Given the description of an element on the screen output the (x, y) to click on. 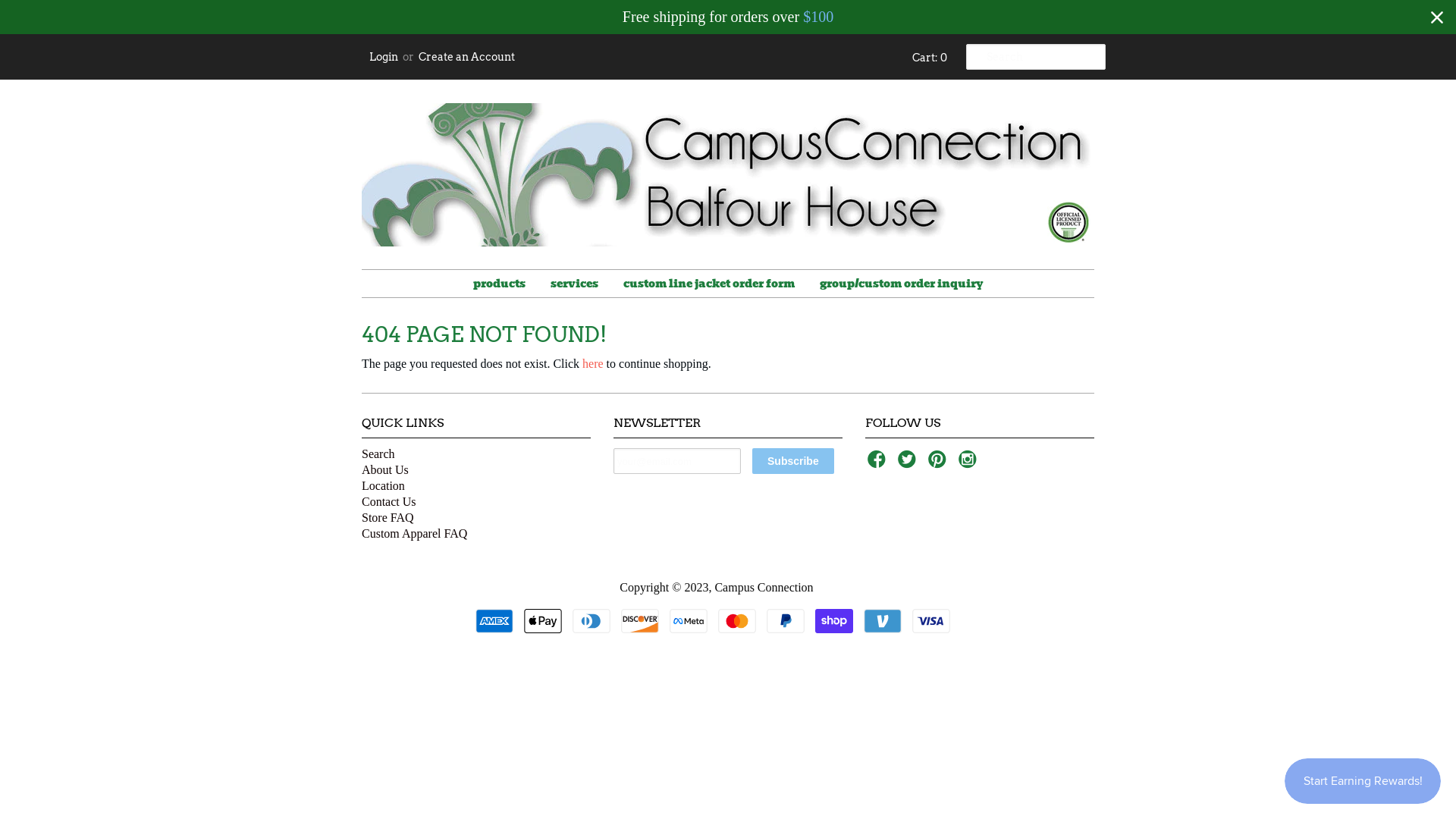
Follow us on Facebook! Element type: hover (878, 463)
Smile.io Rewards Program Launcher Element type: hover (1362, 780)
services Element type: text (573, 283)
Subscribe Element type: text (793, 460)
Follow us on Pinterest! Element type: hover (939, 463)
here Element type: text (592, 363)
Custom Apparel FAQ Element type: text (414, 533)
Login Element type: text (383, 56)
Search Element type: text (378, 453)
Cart: 0 Element type: text (927, 57)
Contact Us Element type: text (388, 501)
Follow us on Twitter! Element type: hover (908, 463)
Follow us on Instagram! Element type: hover (969, 463)
custom line jacket order form Element type: text (708, 283)
Store FAQ Element type: text (387, 517)
About Us Element type: text (384, 469)
Create an Account Element type: text (466, 56)
group/custom order inquiry Element type: text (901, 283)
Location Element type: text (382, 485)
products Element type: text (498, 283)
